Given the description of an element on the screen output the (x, y) to click on. 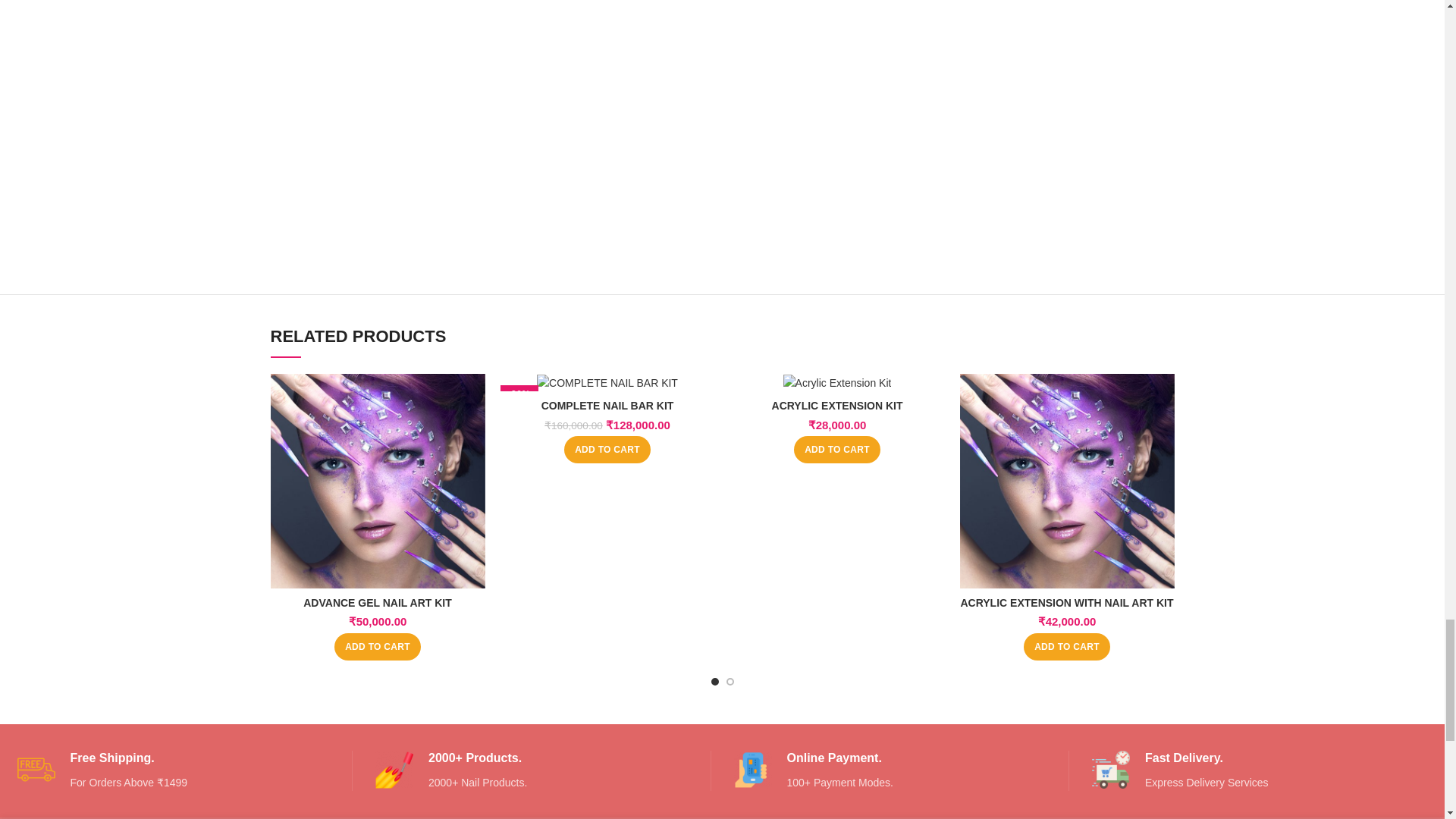
icons8-online-payment-64 (752, 769)
icons8-nail-polish-48 (394, 769)
